Given the description of an element on the screen output the (x, y) to click on. 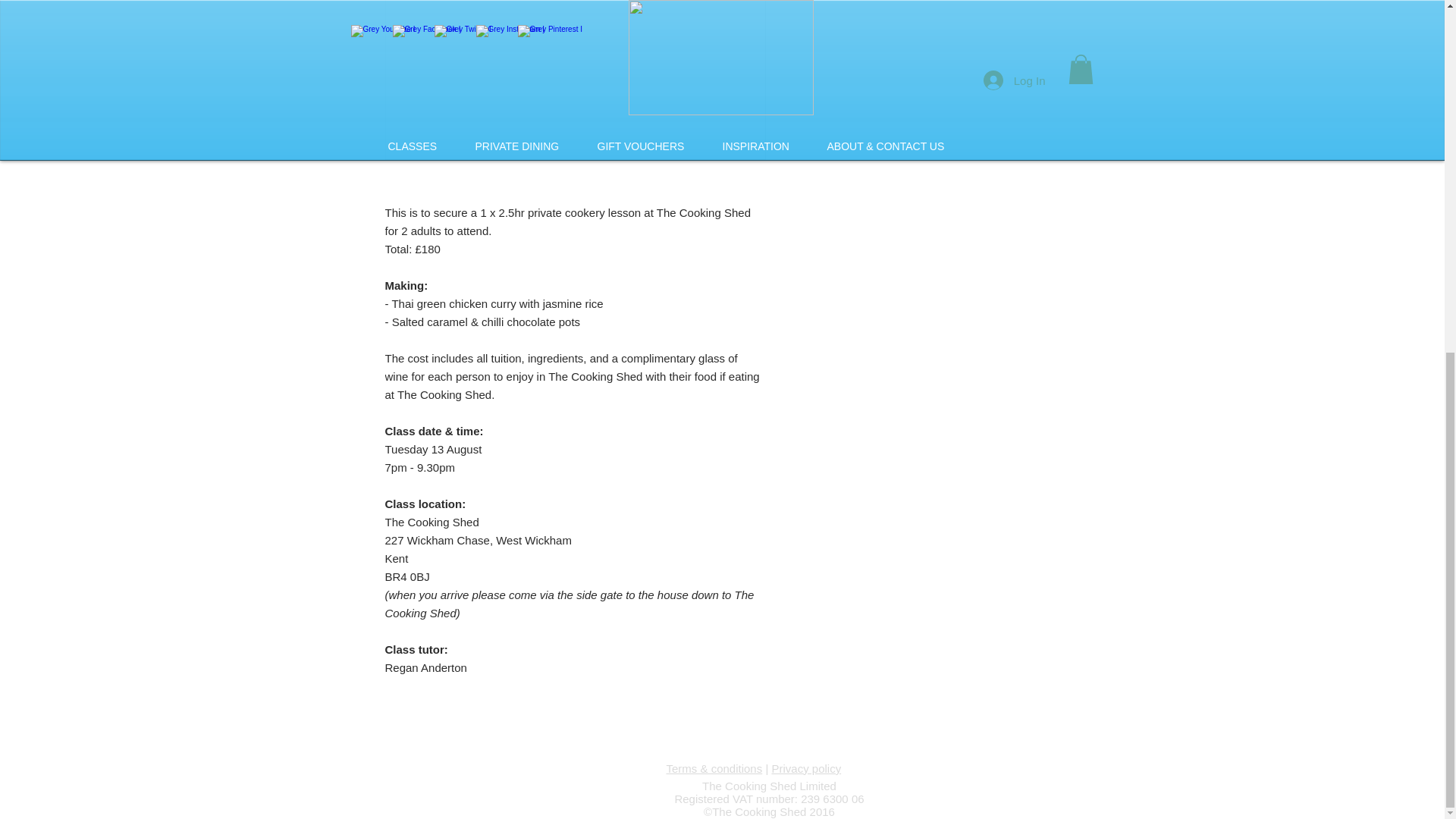
Privacy policy (806, 768)
